Given the description of an element on the screen output the (x, y) to click on. 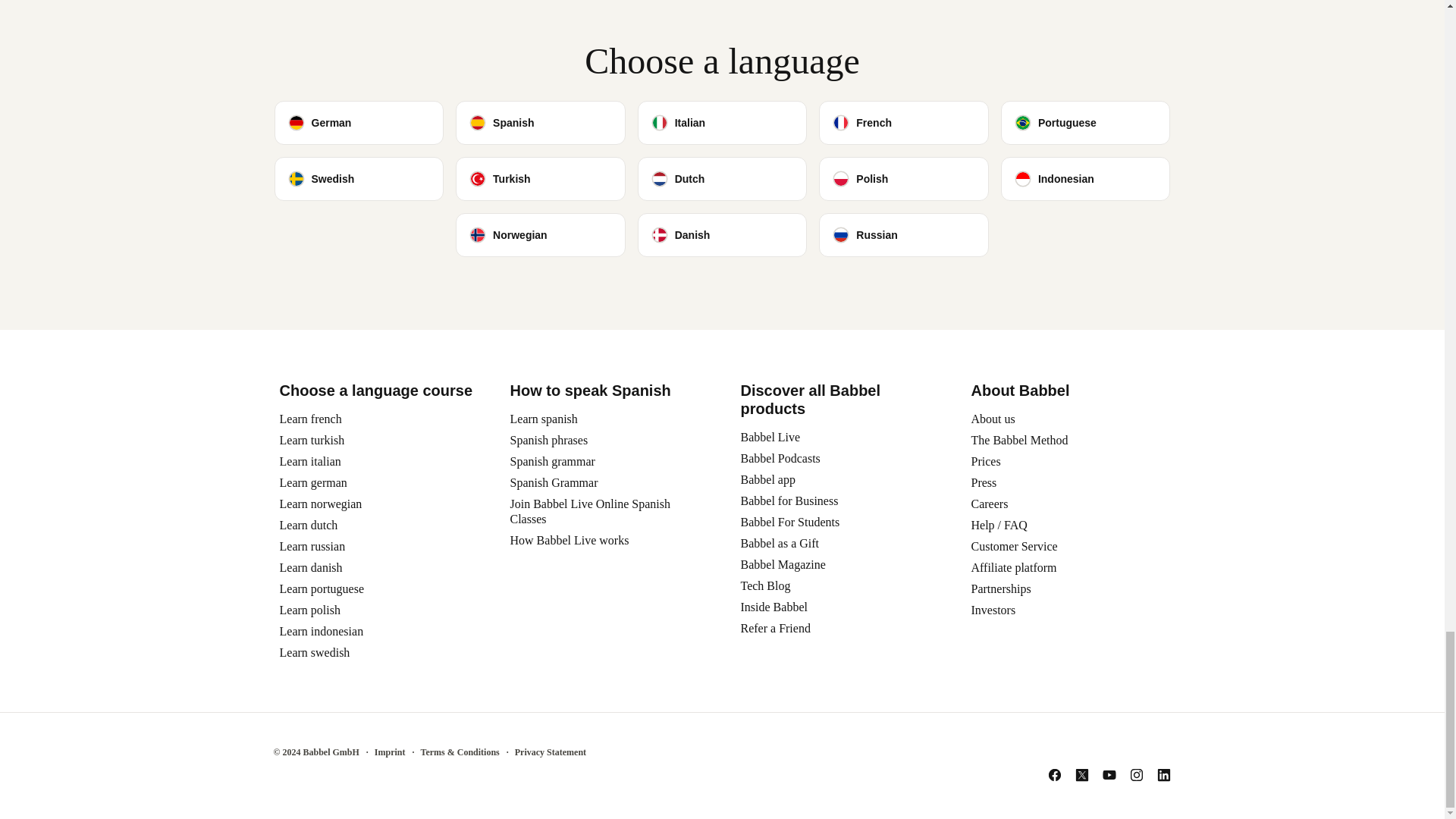
Spanish (540, 122)
facebook (1054, 774)
youtube (1108, 774)
Learn french (309, 418)
Spanish phrases (548, 440)
Norwegian (540, 234)
linkedin (1163, 774)
Learn norwegian (320, 503)
Learn turkish (311, 440)
Learn indonesian (320, 631)
Learn danish (310, 567)
Italian (722, 122)
Polish (903, 178)
Danish (722, 234)
Learn german (312, 482)
